Given the description of an element on the screen output the (x, y) to click on. 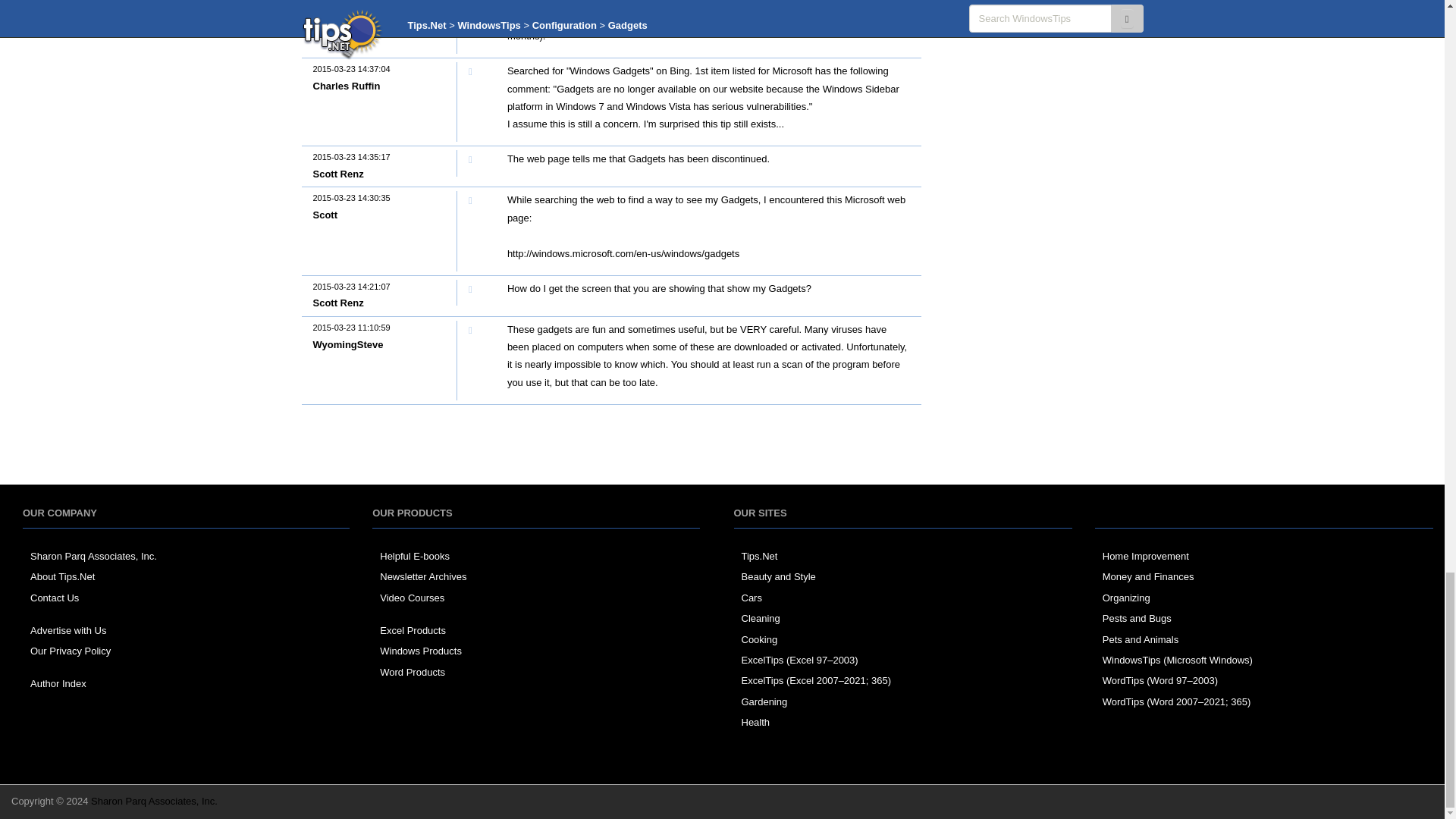
Word Products (412, 672)
Cooking (759, 639)
Beauty and Style (778, 576)
Newsletter Archives (422, 576)
Cars (751, 597)
Cleaning (760, 618)
Tips.Net (759, 555)
Windows Products (420, 650)
Excel Products (412, 630)
Contact Us (54, 597)
